Given the description of an element on the screen output the (x, y) to click on. 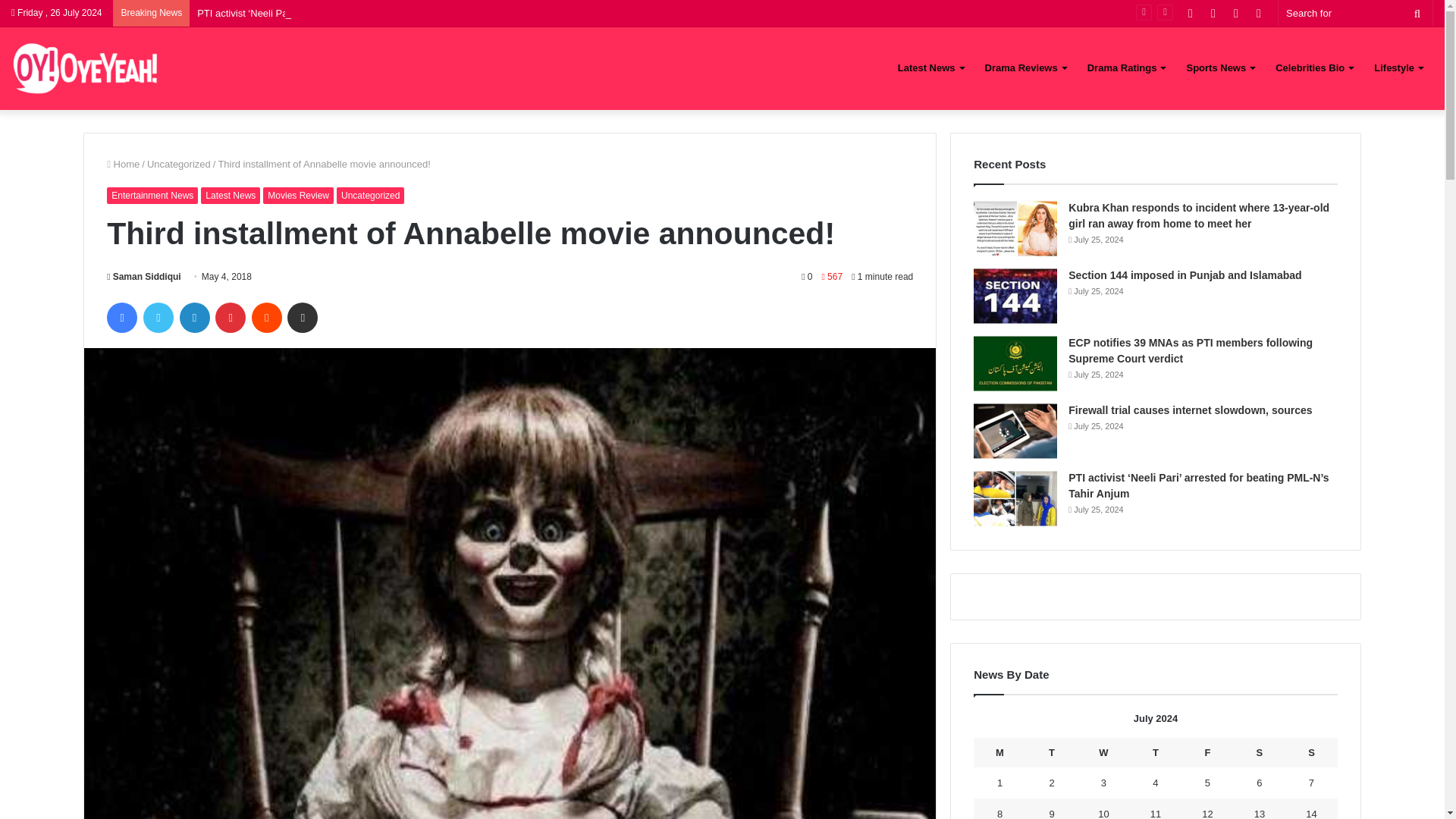
Saman Siddiqui (143, 276)
Twitter (157, 317)
Reddit (266, 317)
Pinterest (230, 317)
Drama Ratings (1126, 67)
Oyeyeah (85, 68)
LinkedIn (194, 317)
Sports News (1219, 67)
Search for (1417, 13)
Facebook (121, 317)
Drama Reviews (1025, 67)
Search for (1355, 13)
Share via Email (301, 317)
Latest News (930, 67)
Celebrities Bio (1313, 67)
